Given the description of an element on the screen output the (x, y) to click on. 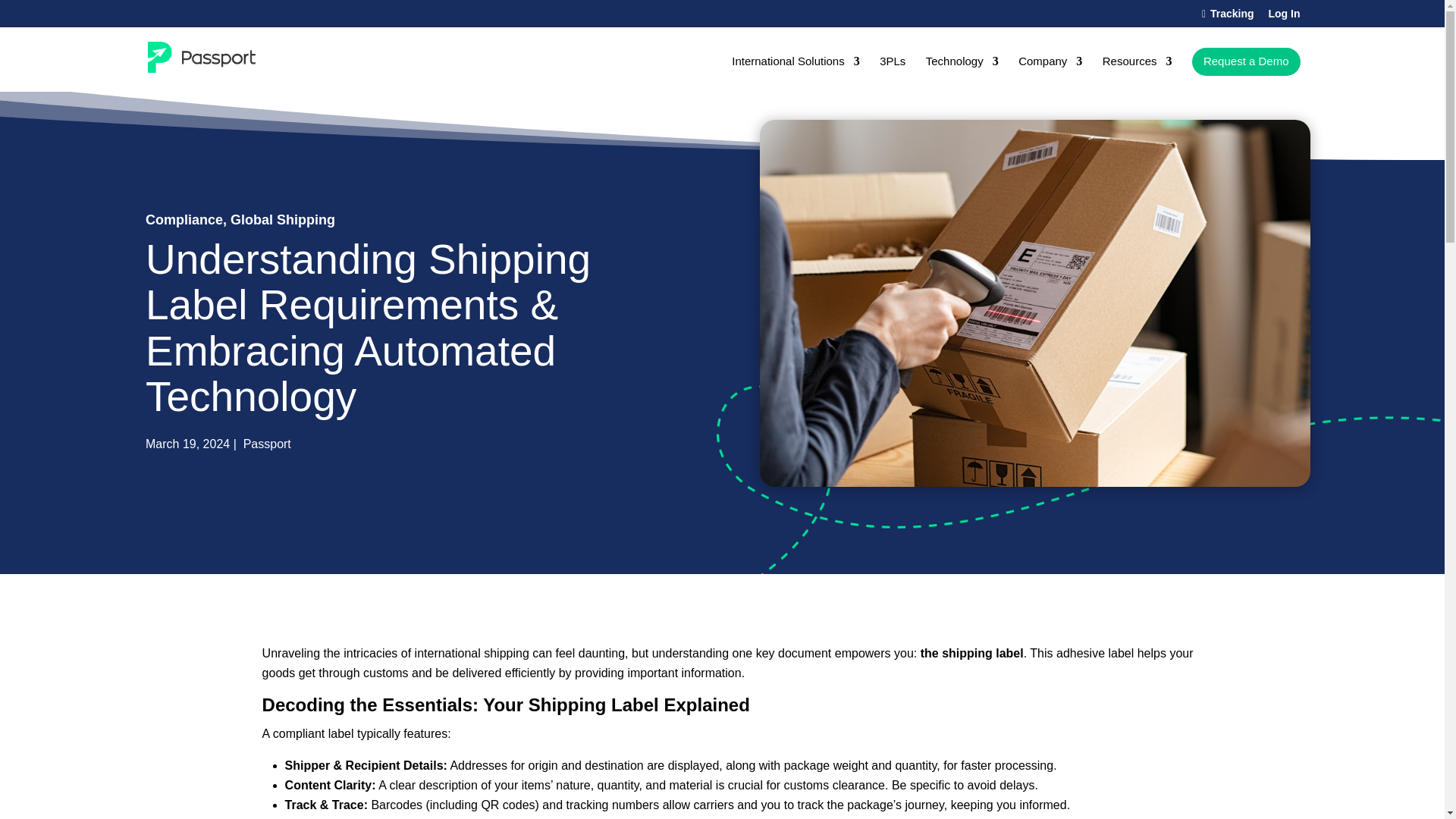
Technology (962, 73)
Request a Demo (1246, 61)
Log In (1284, 16)
Tracking (1227, 17)
Resources (1137, 73)
Company (1049, 73)
International Solutions (795, 73)
